Given the description of an element on the screen output the (x, y) to click on. 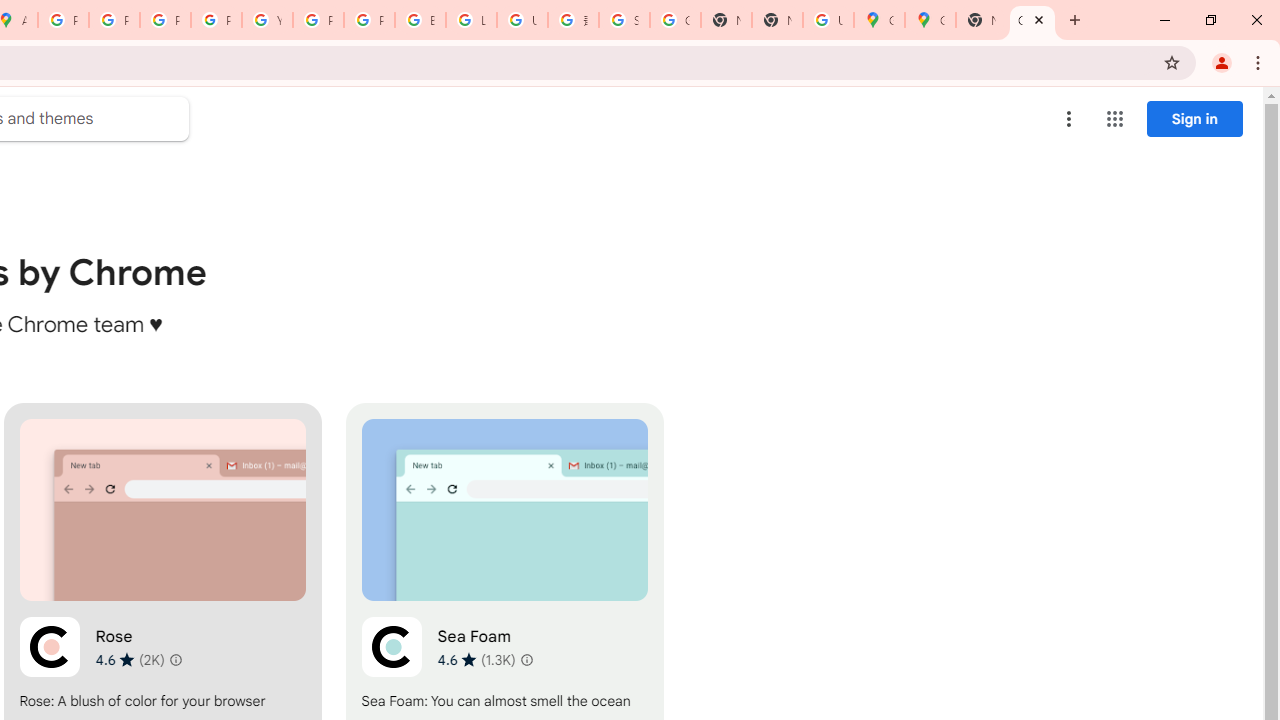
New Tab (776, 20)
Use Google Maps in Space - Google Maps Help (827, 20)
Sign in - Google Accounts (624, 20)
YouTube (267, 20)
More options menu (1069, 118)
Average rating 4.6 out of 5 stars. 2K ratings. (129, 659)
Learn more about results and reviews "Rose" (175, 659)
Google Maps (930, 20)
